Given the description of an element on the screen output the (x, y) to click on. 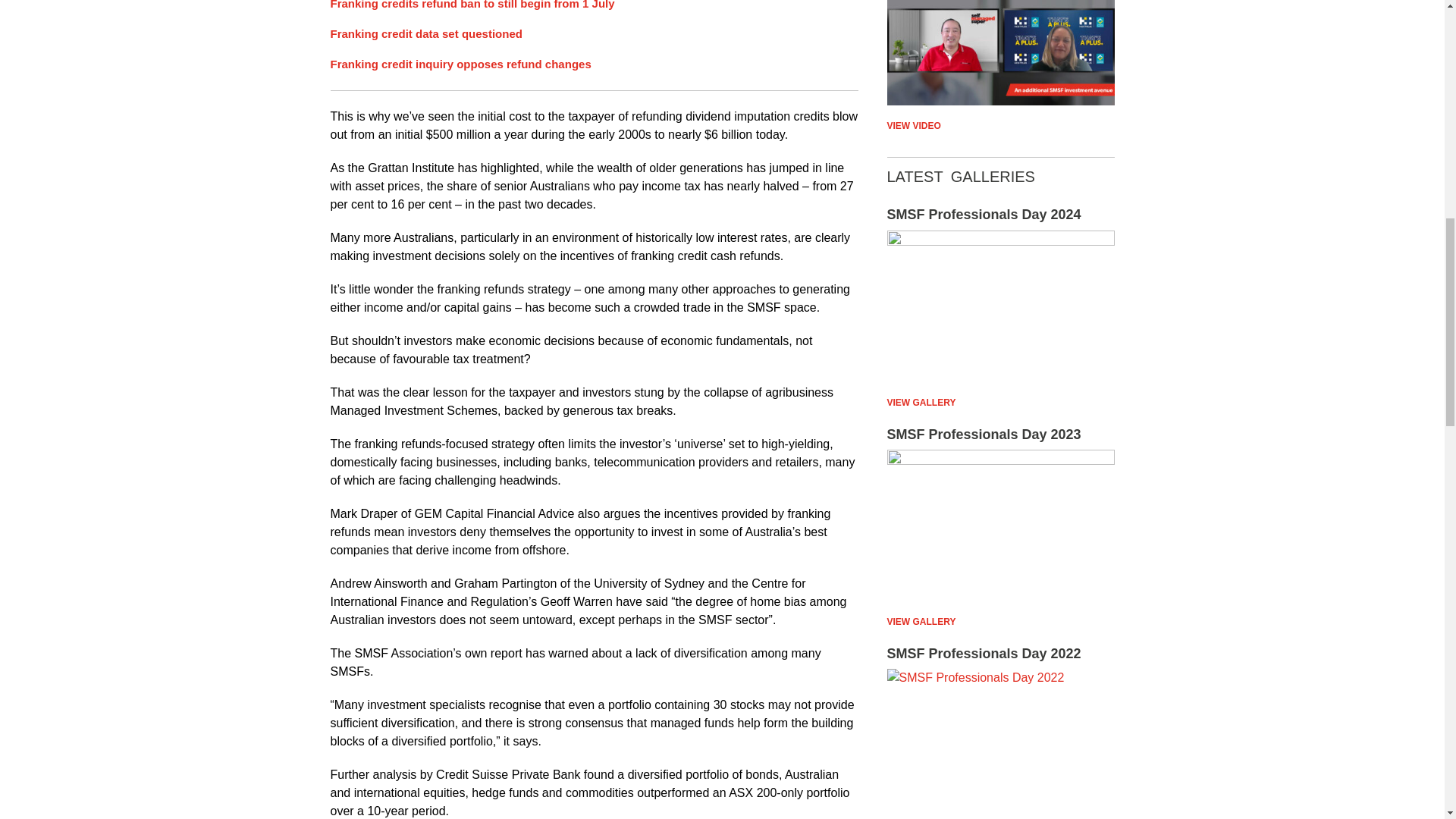
Franking credit data set questioned (426, 33)
Franking credit inquiry opposes refund changes (460, 63)
Franking credits refund ban to still begin from 1 July (472, 4)
